Given the description of an element on the screen output the (x, y) to click on. 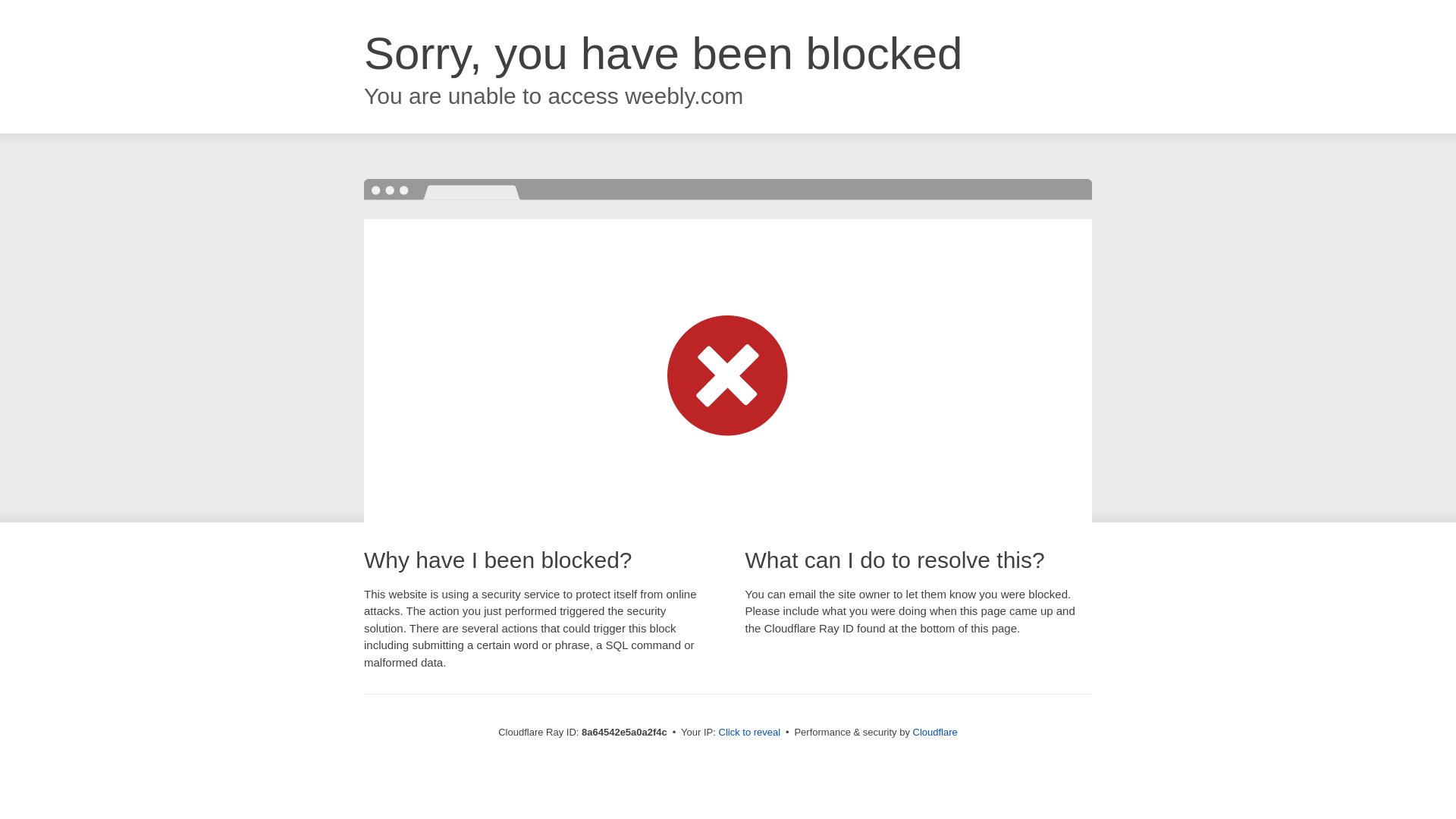
Click to reveal (749, 732)
Cloudflare (935, 731)
